Given the description of an element on the screen output the (x, y) to click on. 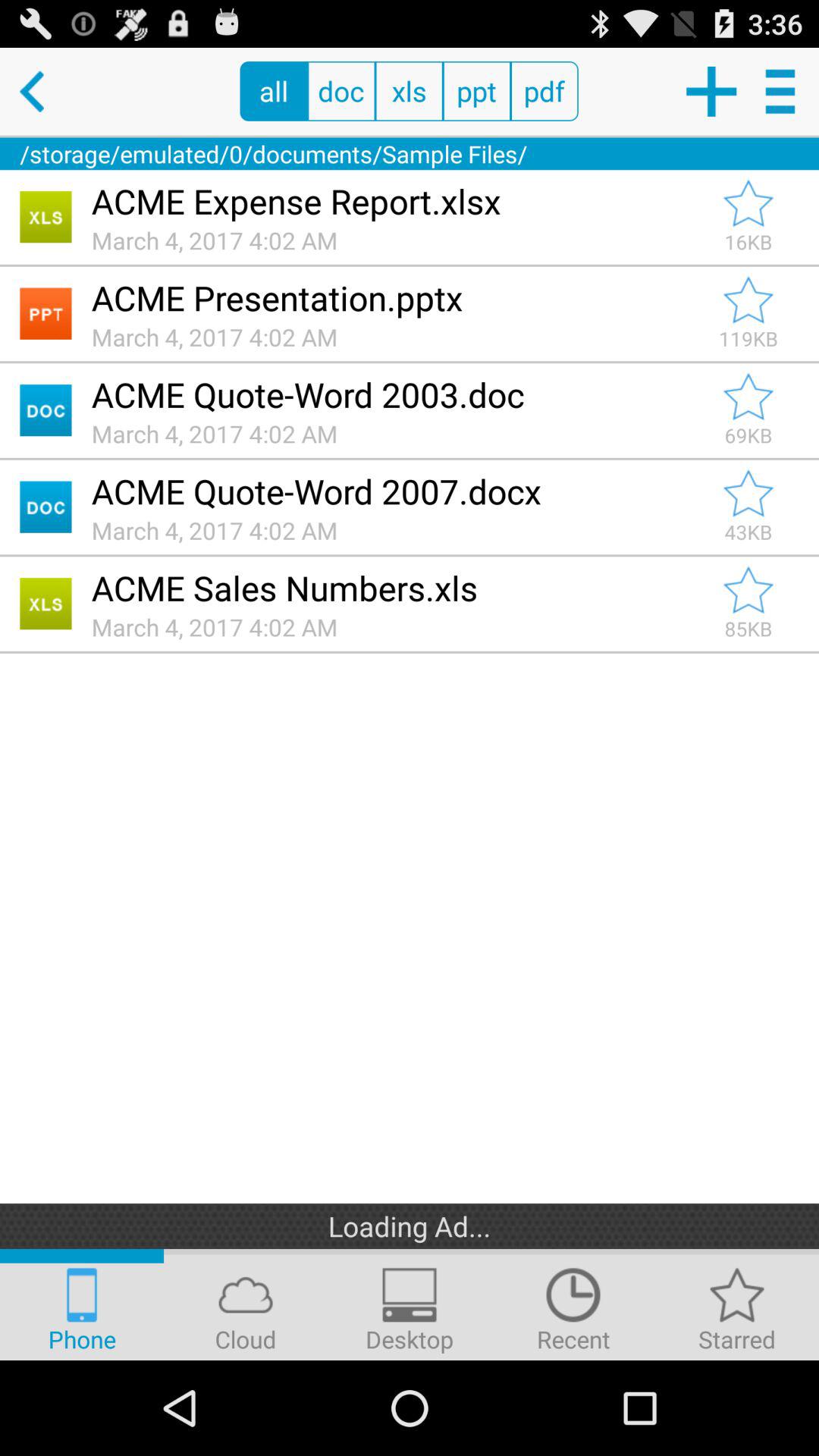
star this selection (748, 493)
